Given the description of an element on the screen output the (x, y) to click on. 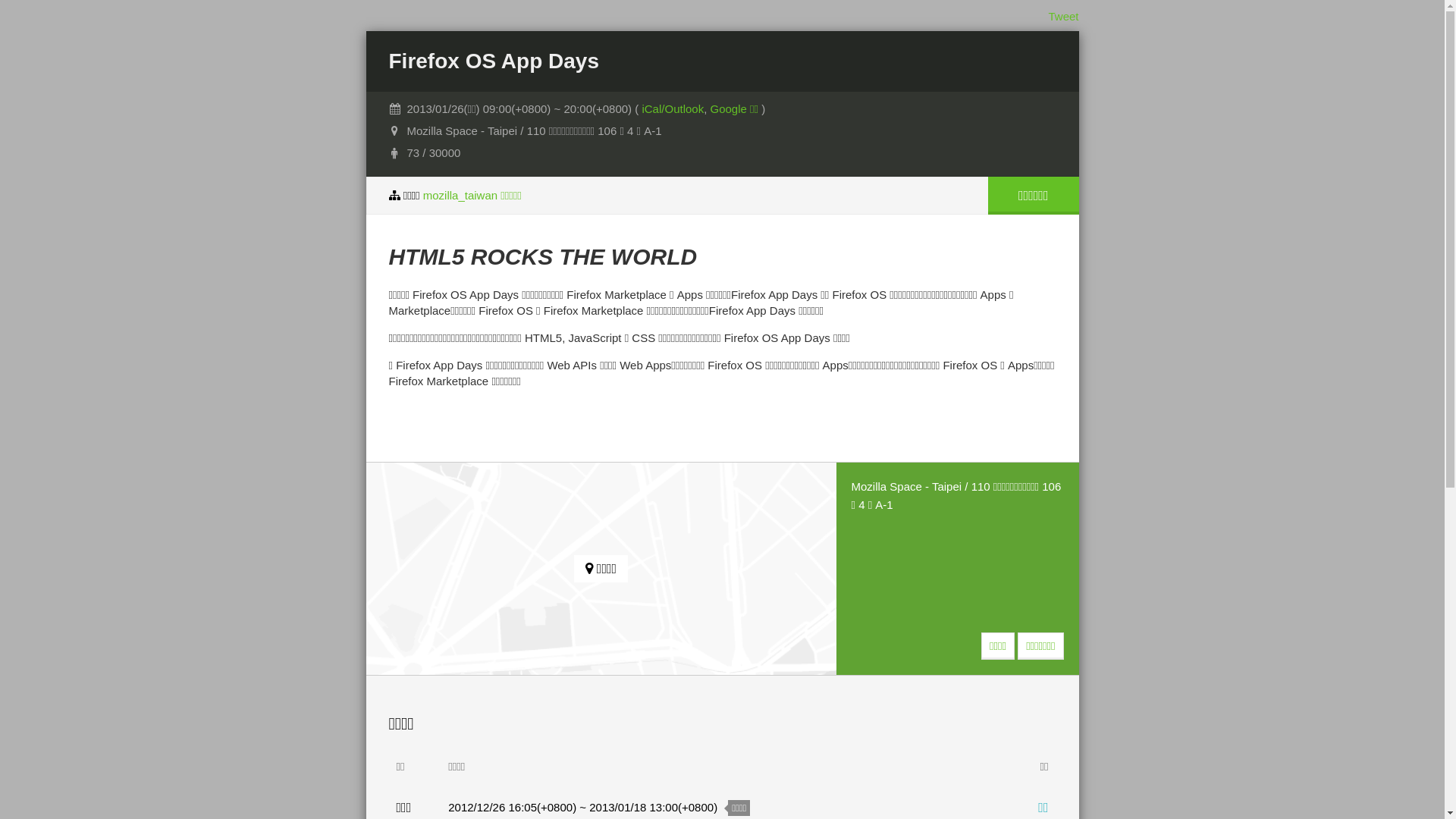
iCal/Outlook Element type: text (672, 108)
Tweet Element type: text (1063, 15)
